Given the description of an element on the screen output the (x, y) to click on. 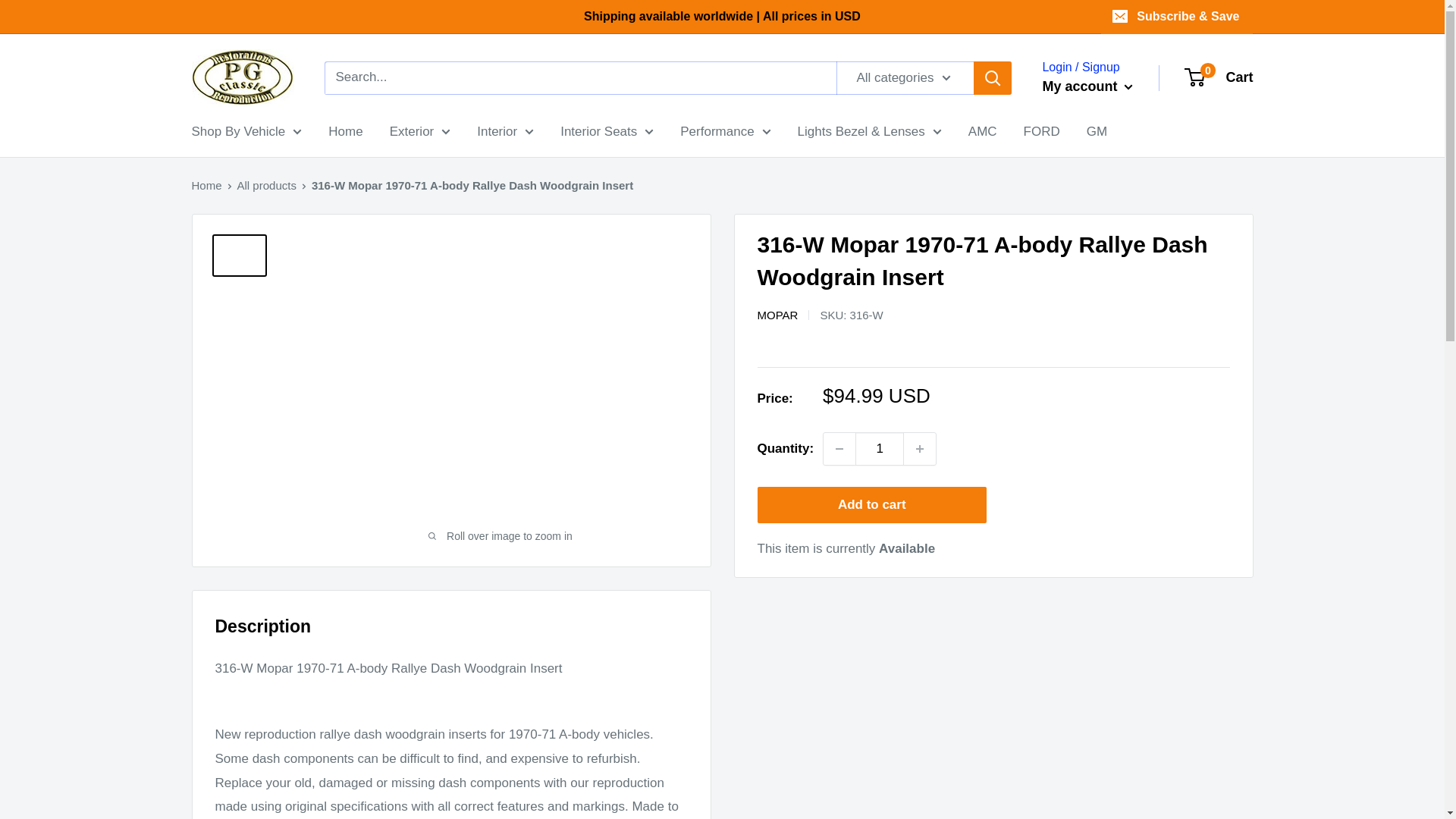
Decrease quantity by 1 (840, 449)
1 (880, 449)
Increase quantity by 1 (920, 449)
